Given the description of an element on the screen output the (x, y) to click on. 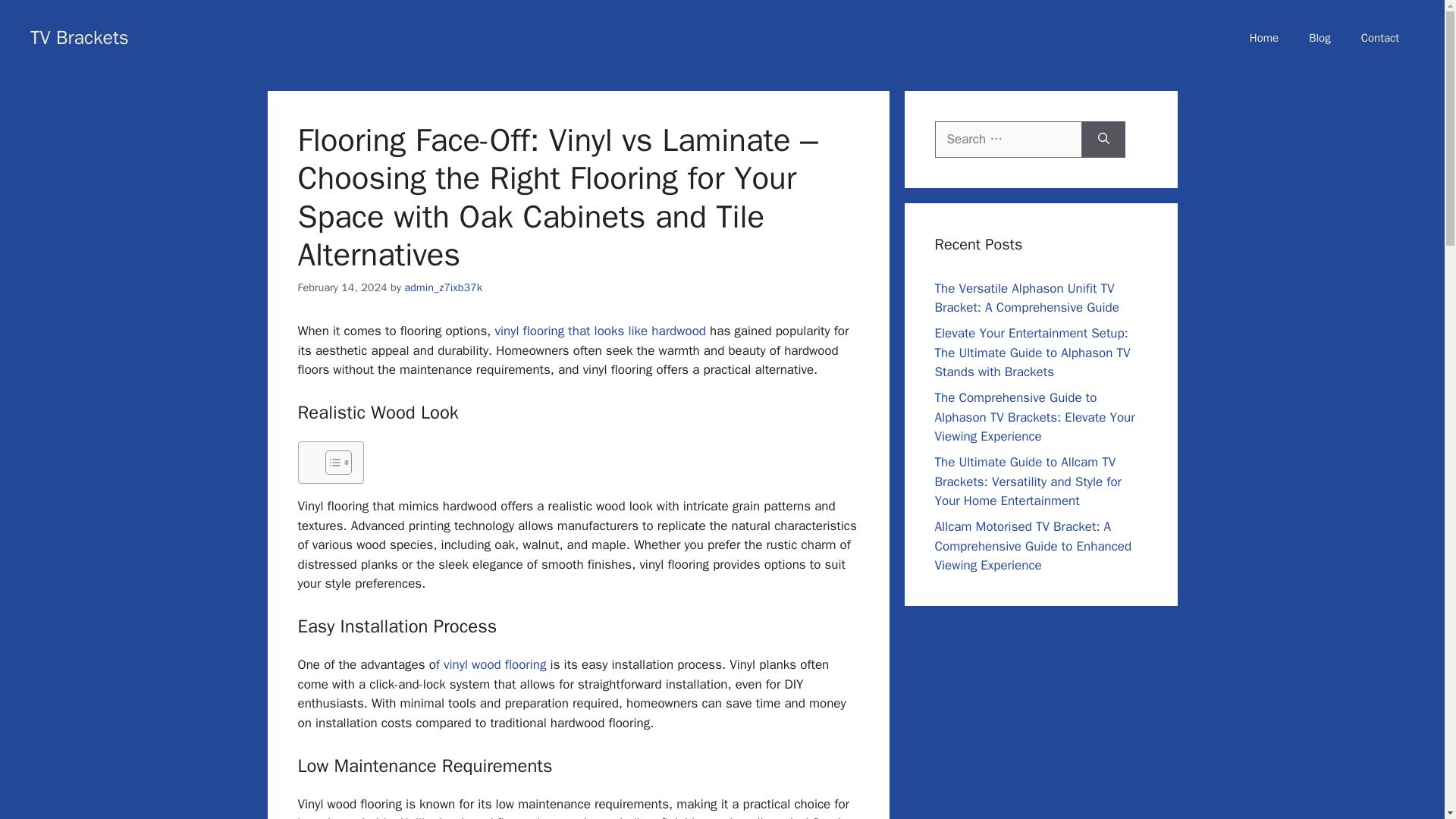
Home (1264, 37)
TV Brackets (79, 37)
f vinyl wood flooring (491, 664)
Contact (1379, 37)
Blog (1319, 37)
vinyl flooring that looks like hardwood (602, 330)
